Given the description of an element on the screen output the (x, y) to click on. 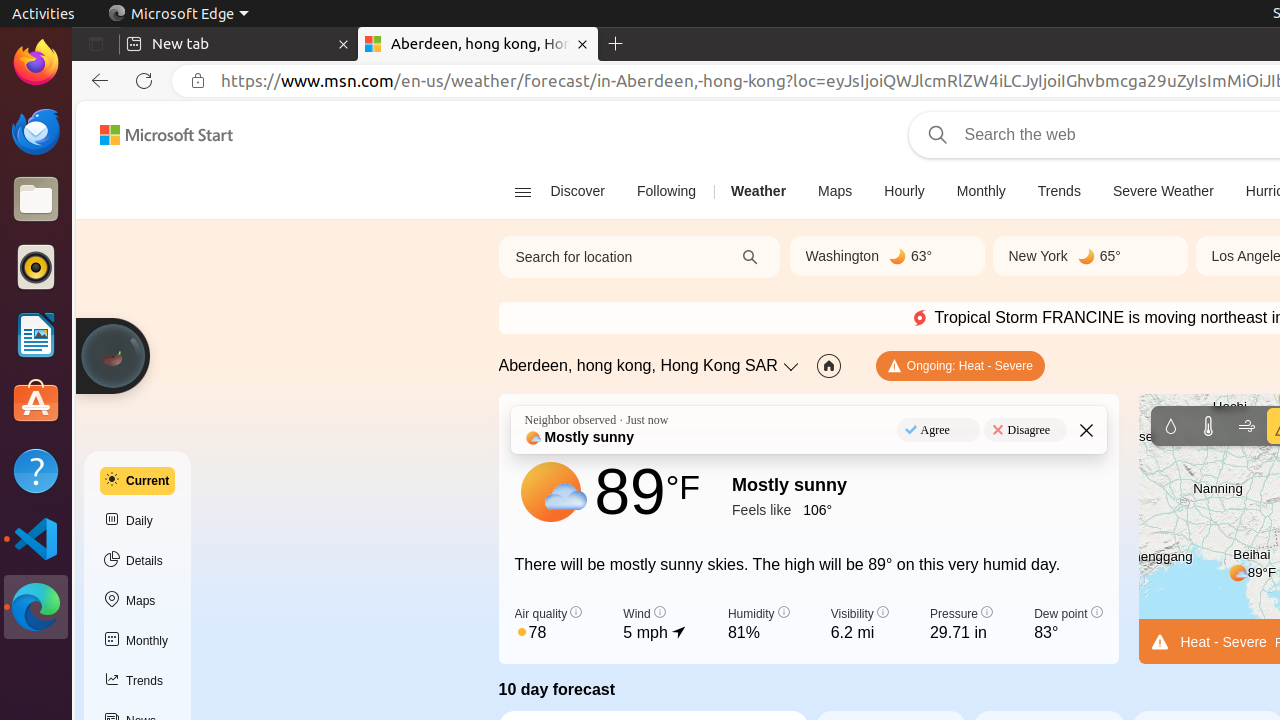
Hourly Element type: link (904, 192)
Tab actions menu Element type: push-button (96, 44)
Precipitation Element type: push-button (1170, 426)
Wind 5 mph Element type: link (655, 625)
Wind Element type: push-button (1246, 426)
